Given the description of an element on the screen output the (x, y) to click on. 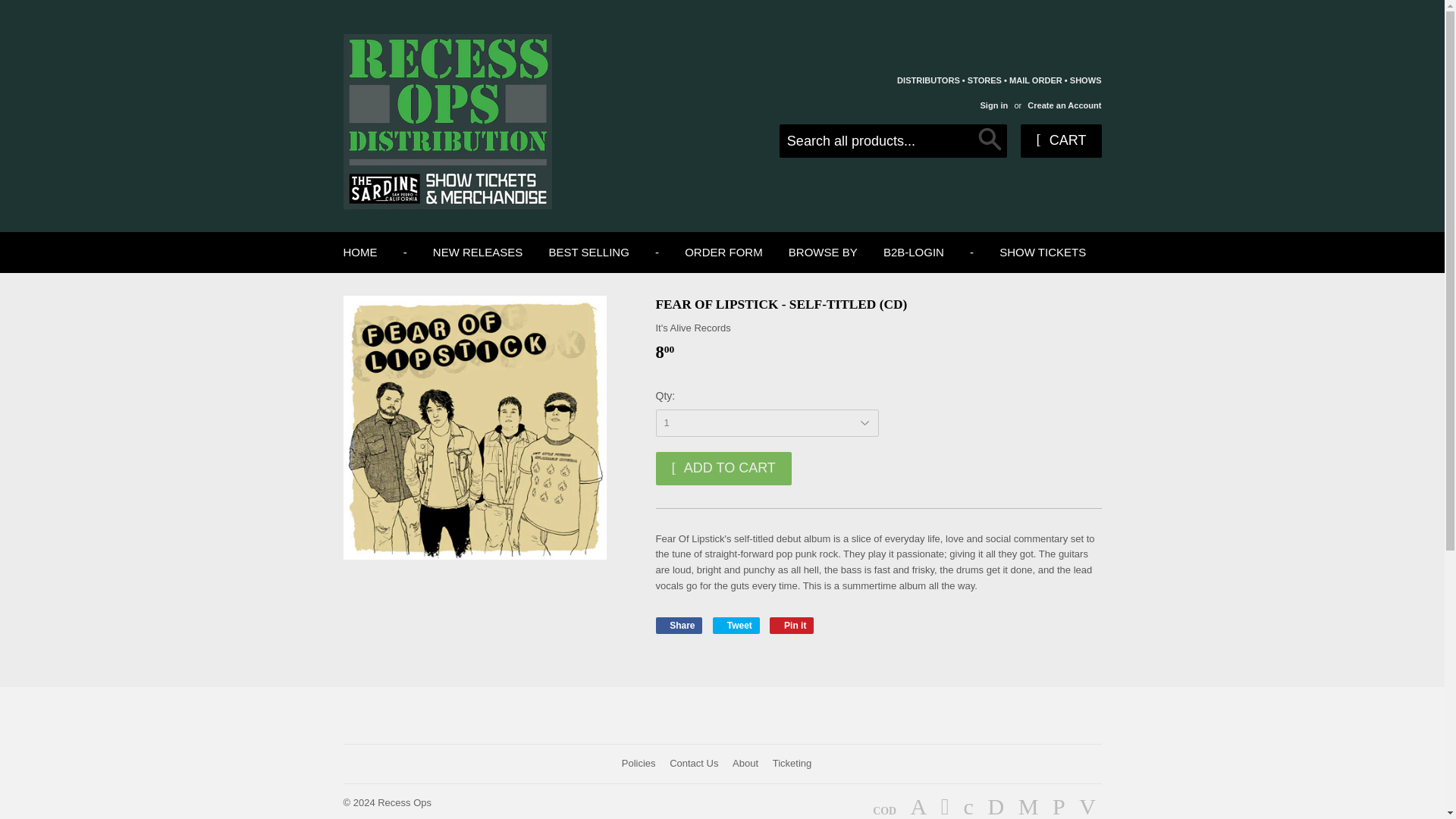
NEW RELEASES (478, 251)
Pin on Pinterest (791, 625)
CART (1060, 141)
Search (989, 142)
- (405, 251)
ORDER FORM (723, 251)
Sign in (993, 104)
- (656, 251)
HOME (359, 251)
BEST SELLING (588, 251)
Tweet on Twitter (736, 625)
Share on Facebook (678, 625)
Create an Account (1063, 104)
